Given the description of an element on the screen output the (x, y) to click on. 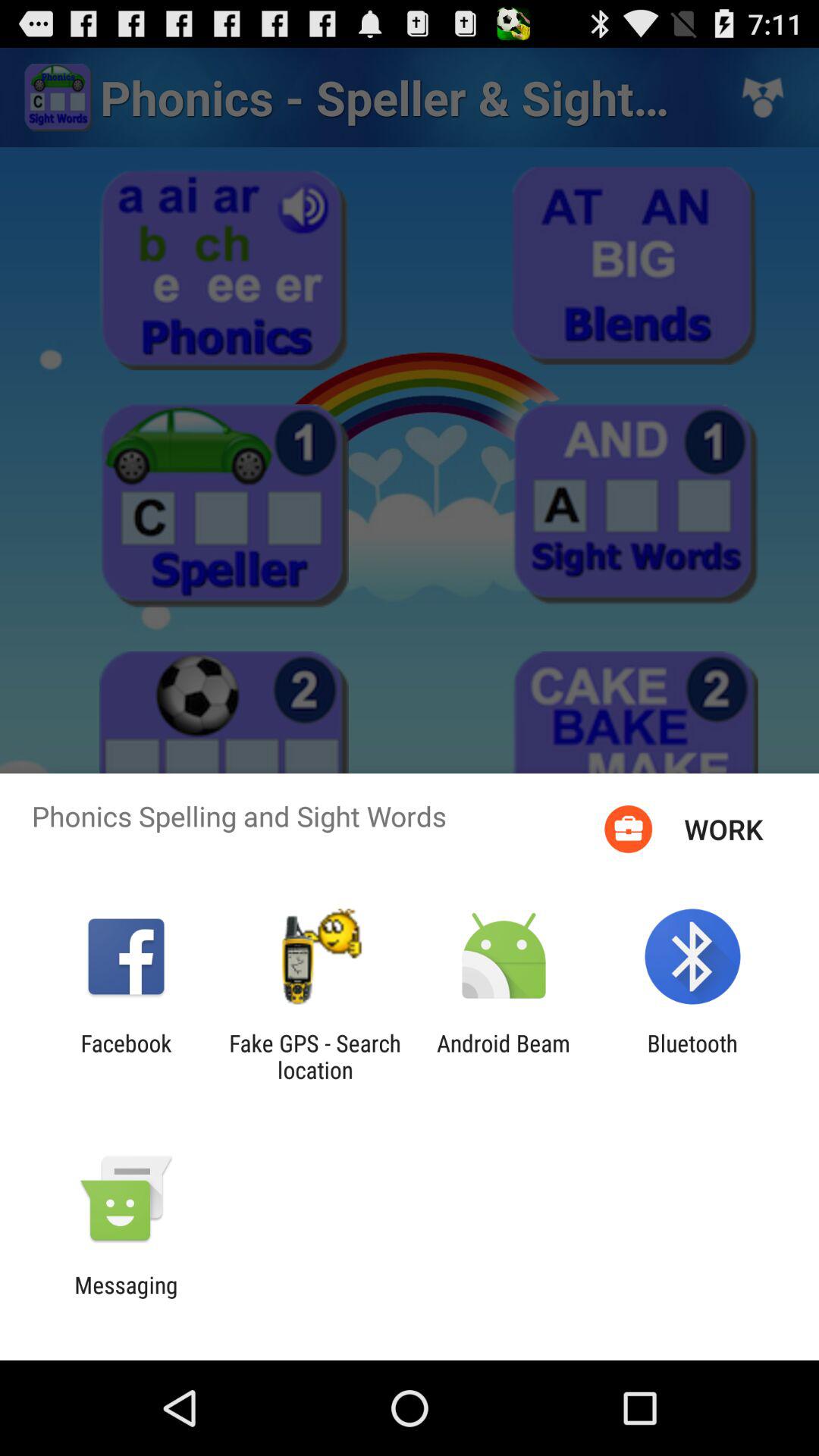
press the icon next to bluetooth (503, 1056)
